Given the description of an element on the screen output the (x, y) to click on. 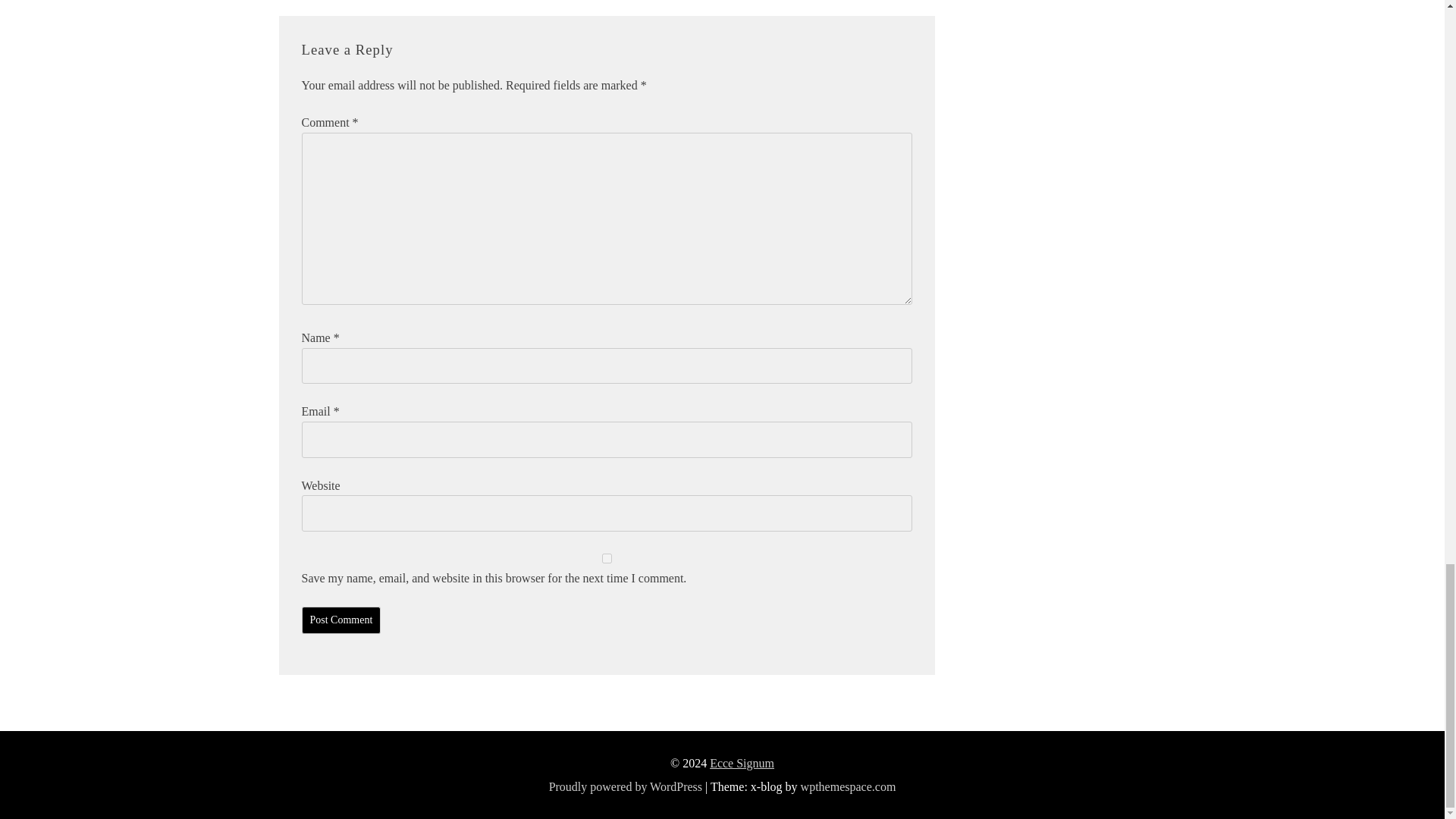
Post Comment (341, 619)
Post Comment (341, 619)
yes (606, 558)
